Given the description of an element on the screen output the (x, y) to click on. 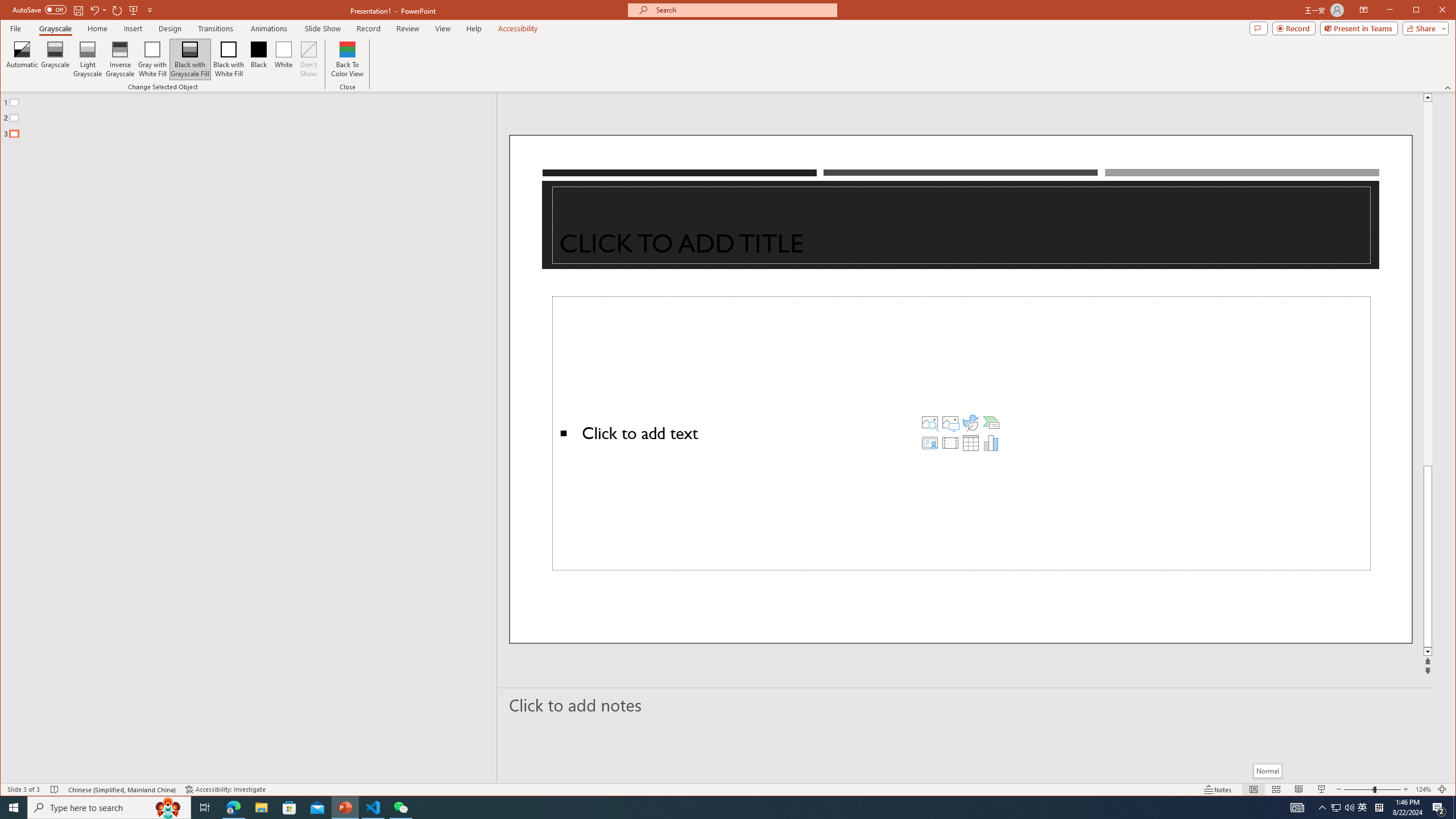
Stock Images (929, 422)
Black with Grayscale Fill (189, 59)
Insert a SmartArt Graphic (991, 422)
